Given the description of an element on the screen output the (x, y) to click on. 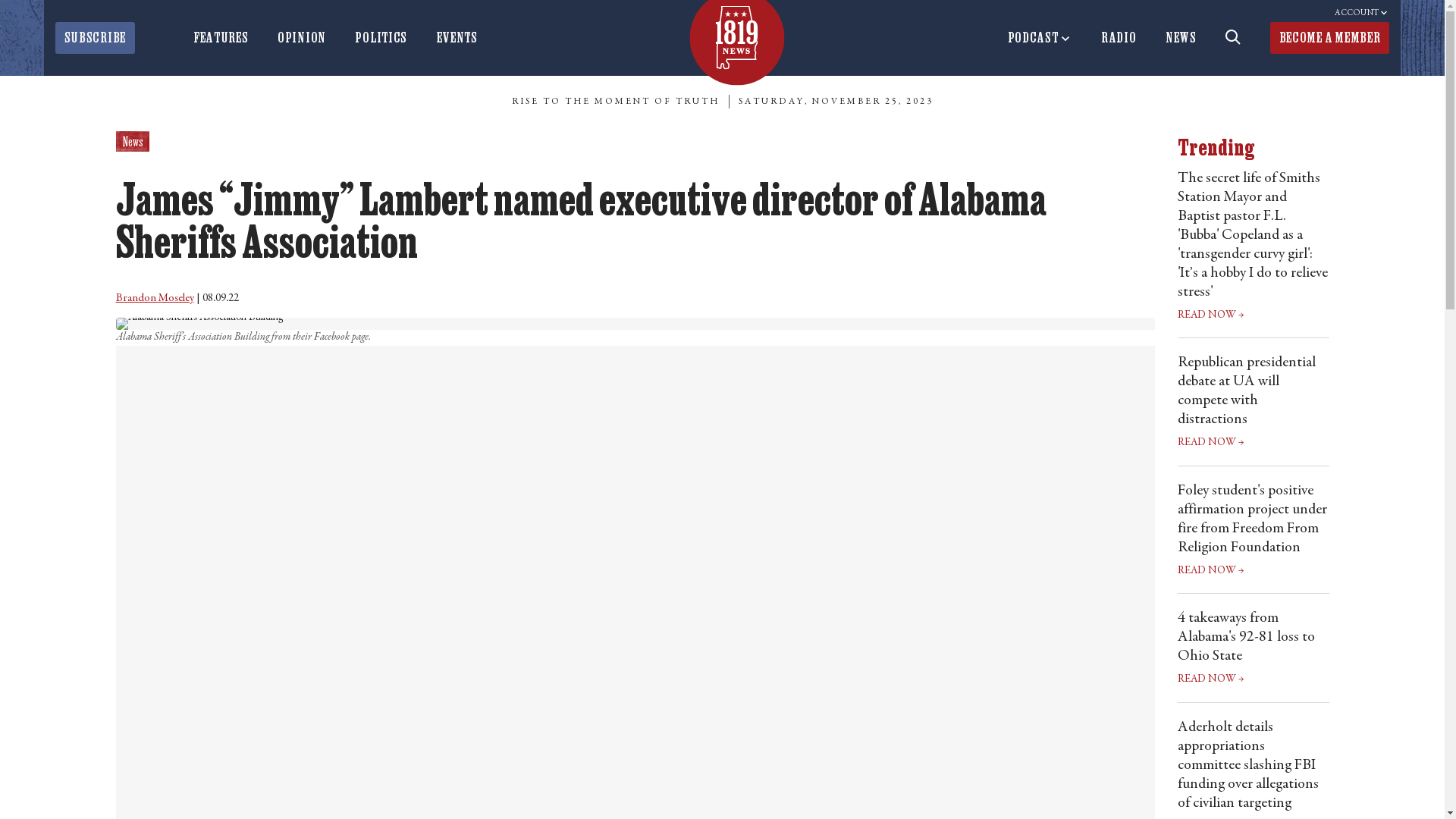
PODCAST Element type: text (1039, 37)
FEATURES Element type: text (220, 37)
EVENTS Element type: text (456, 37)
POLITICS Element type: text (380, 37)
OPINION Element type: text (301, 37)
SUBSCRIBE Element type: text (94, 37)
BECOME A MEMBER Element type: text (1330, 37)
NEWS Element type: text (1180, 37)
RADIO Element type: text (1118, 37)
Brandon Moseley Element type: text (154, 298)
News Element type: text (131, 141)
